Given the description of an element on the screen output the (x, y) to click on. 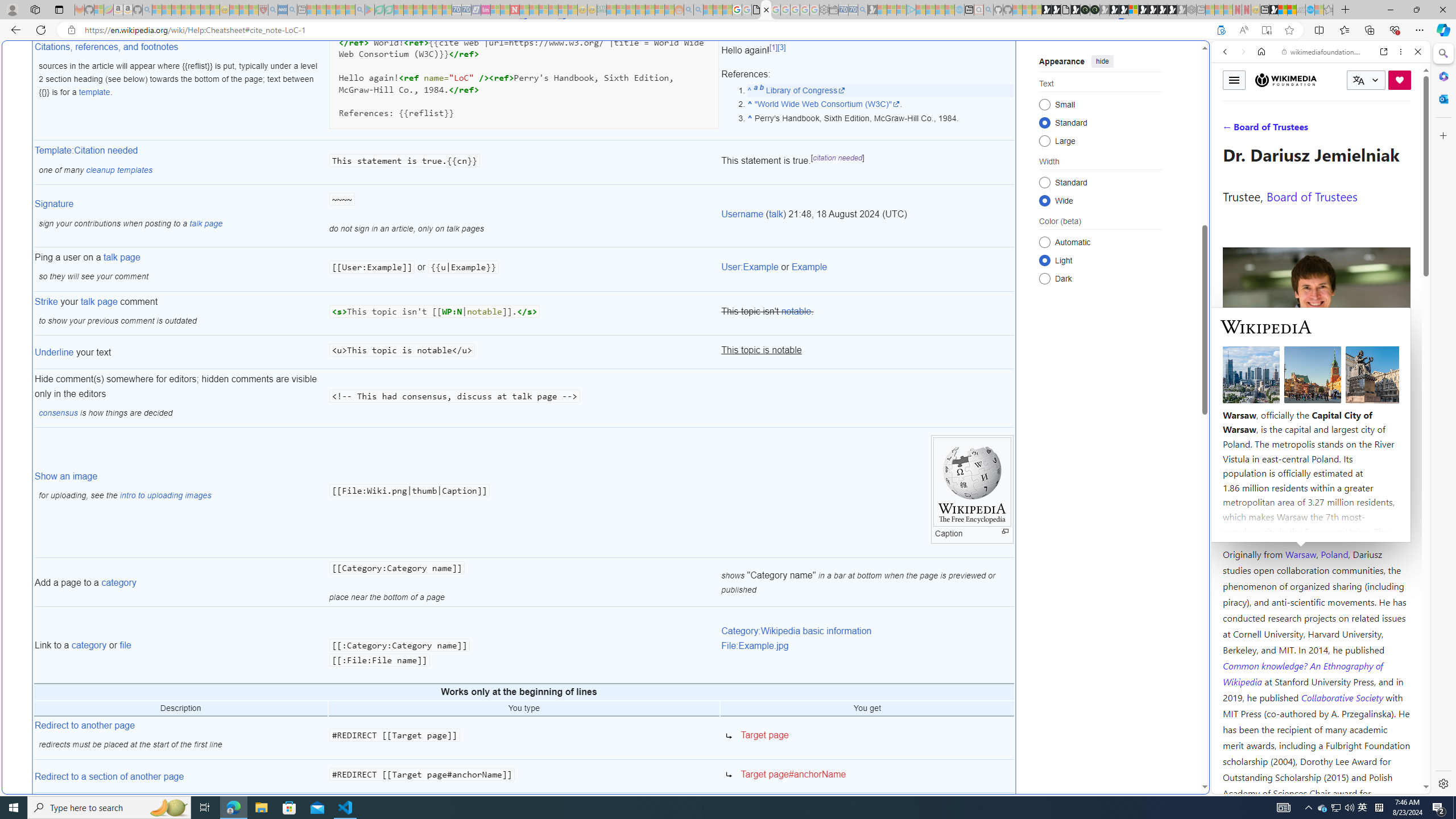
Warsaw (1300, 554)
User:Example or Example (866, 268)
This statement is true.[citation needed] (866, 162)
Template:Citation needed one of many cleanup templates (180, 162)
utah sues federal government - Search (922, 389)
Wikimedia Foundation (1286, 79)
